Given the description of an element on the screen output the (x, y) to click on. 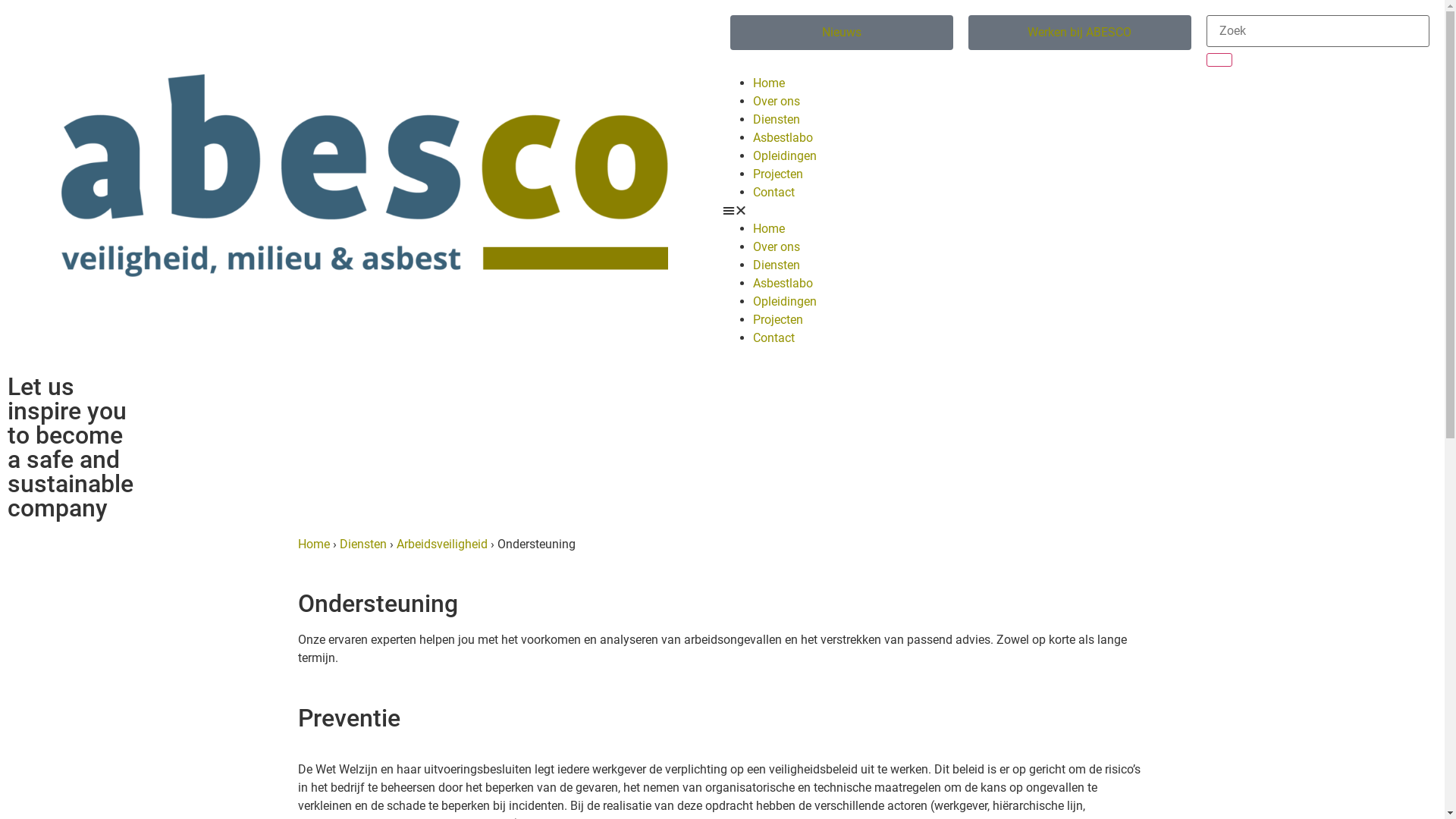
Home Element type: text (768, 228)
Over ons Element type: text (775, 101)
Diensten Element type: text (775, 119)
Projecten Element type: text (777, 173)
Home Element type: text (768, 82)
Opleidingen Element type: text (783, 155)
Nieuws Element type: text (840, 32)
Search Element type: hover (1219, 59)
Projecten Element type: text (777, 319)
Asbestlabo Element type: text (782, 283)
Diensten Element type: text (775, 264)
Diensten Element type: text (362, 543)
Search Element type: hover (1317, 31)
Contact Element type: text (772, 337)
Opleidingen Element type: text (783, 301)
Over ons Element type: text (775, 246)
Asbestlabo Element type: text (782, 137)
Home Element type: text (313, 543)
Contact Element type: text (772, 192)
Werken bij ABESCO Element type: text (1079, 32)
Arbeidsveiligheid Element type: text (440, 543)
